Given the description of an element on the screen output the (x, y) to click on. 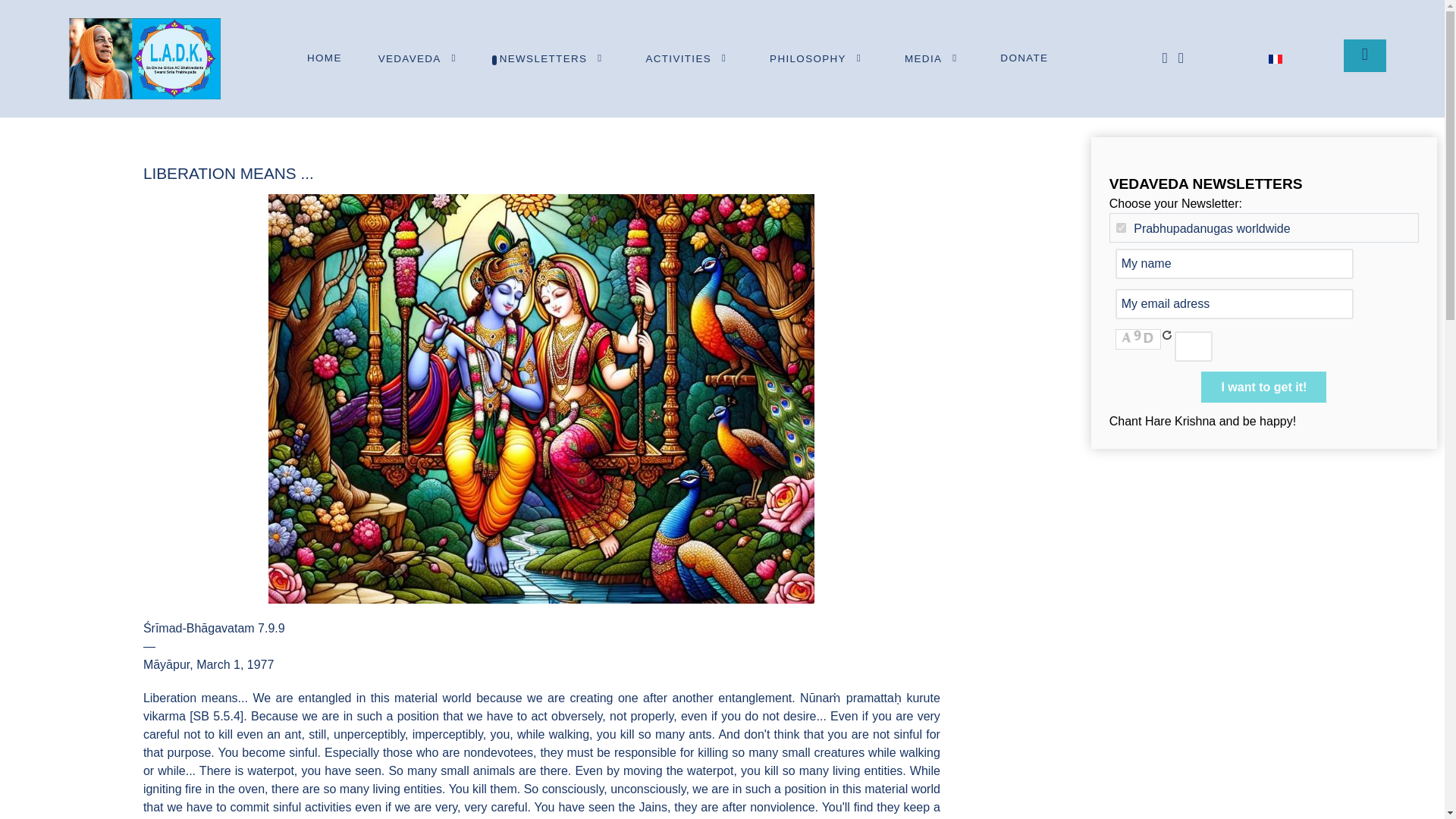
VEDAVEDA (420, 58)
My name (1234, 263)
I want to get it! (1263, 386)
ACTIVITIES (689, 58)
NEWSLETTERS (554, 58)
The captcha is invalid, please try again (1137, 338)
My name (1234, 263)
My email adress (1234, 304)
PHILOSOPHY (818, 58)
DONATE (1023, 58)
